Given the description of an element on the screen output the (x, y) to click on. 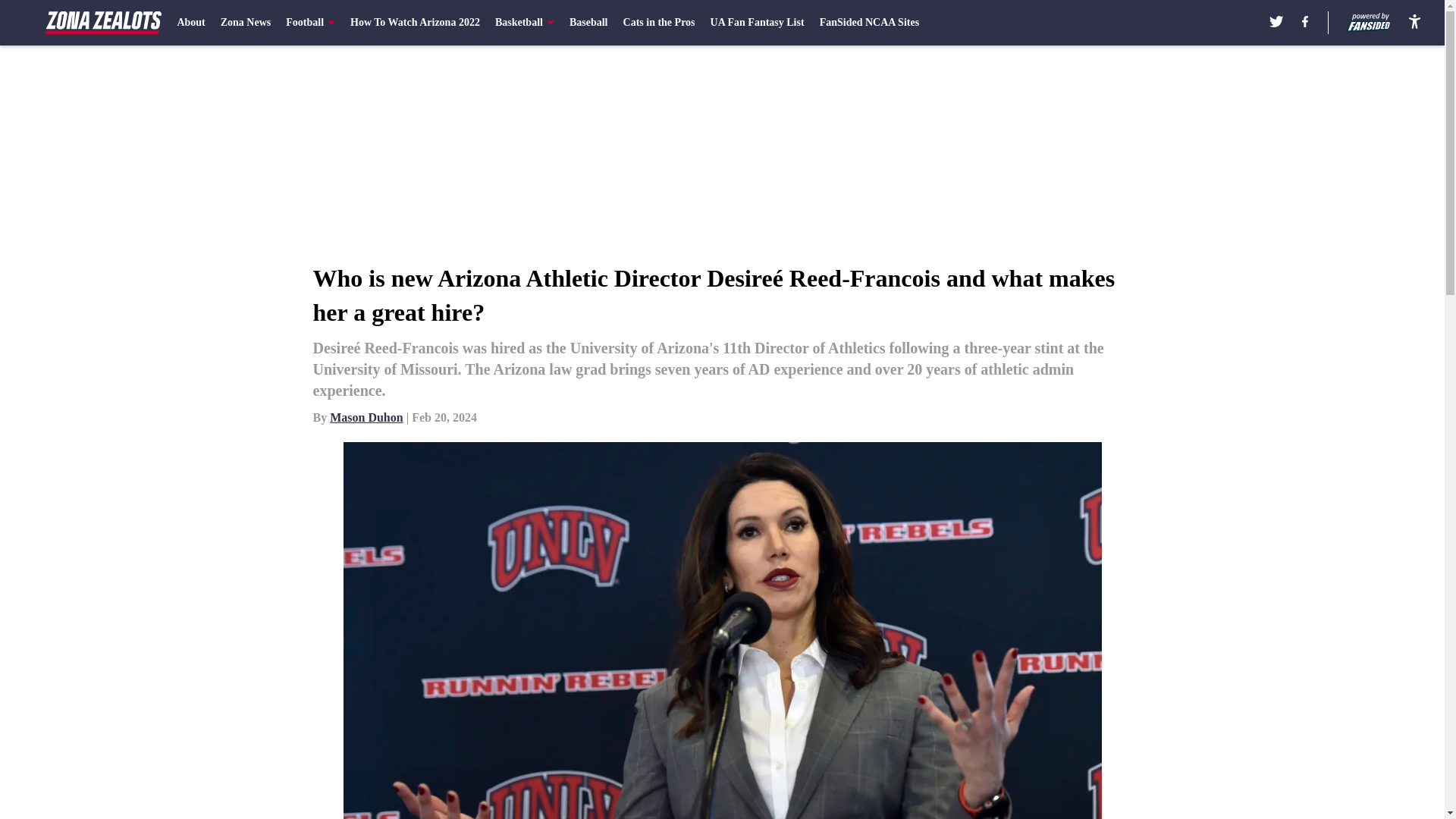
Cats in the Pros (659, 22)
About (190, 22)
Baseball (588, 22)
UA Fan Fantasy List (757, 22)
FanSided NCAA Sites (868, 22)
How To Watch Arizona 2022 (415, 22)
Mason Duhon (366, 417)
Zona News (245, 22)
